Given the description of an element on the screen output the (x, y) to click on. 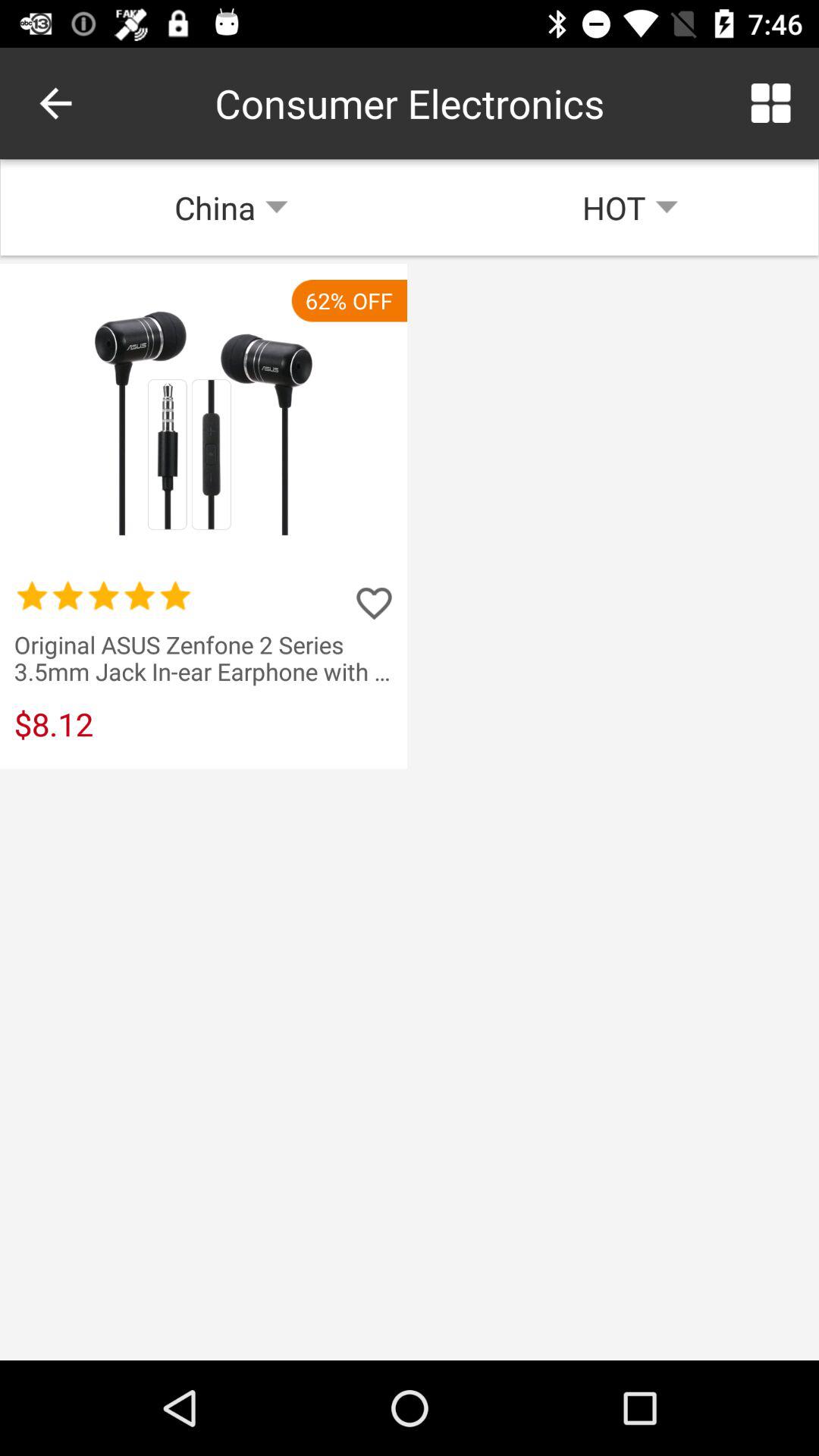
heart item (374, 603)
